Given the description of an element on the screen output the (x, y) to click on. 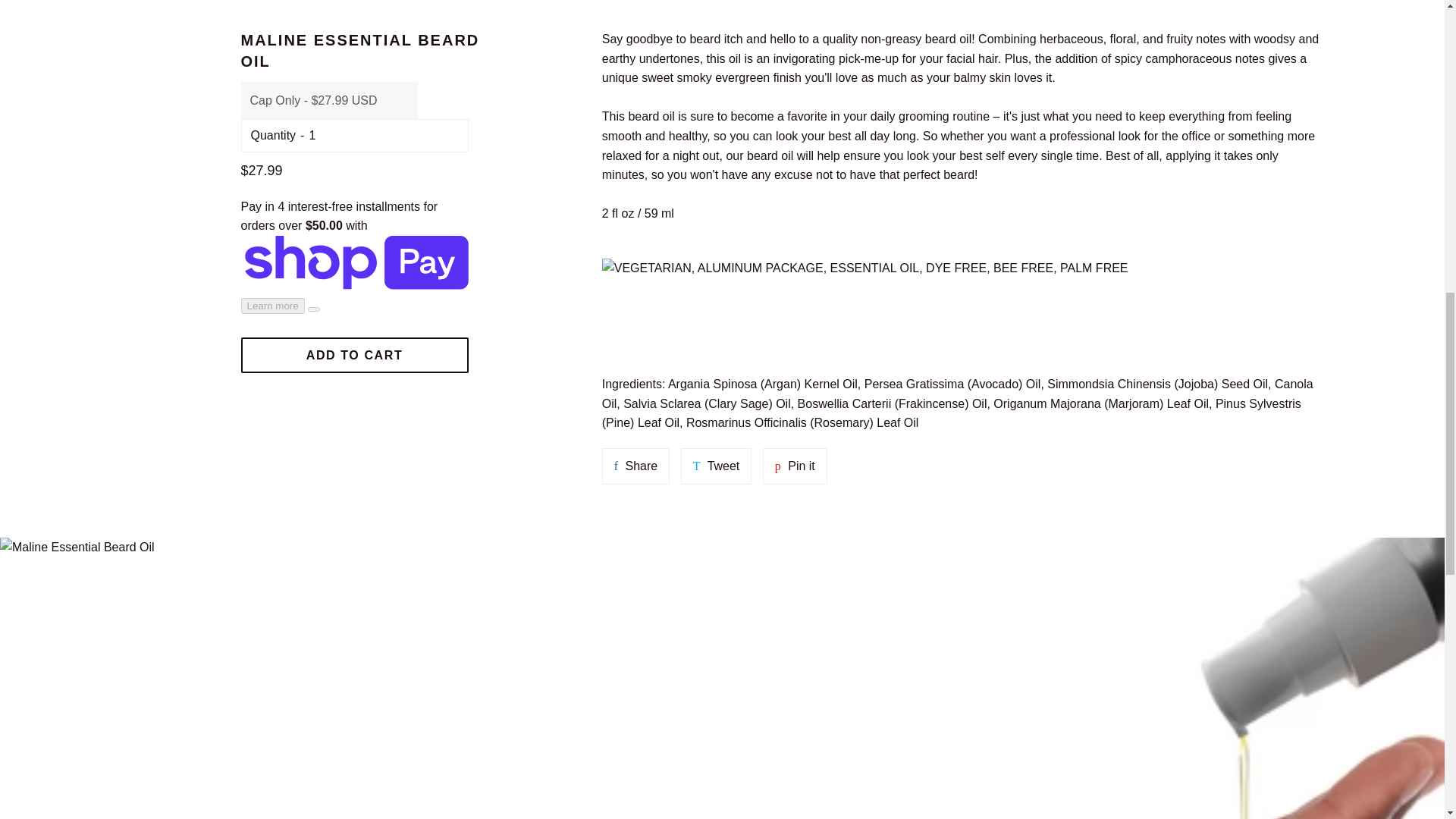
Pin on Pinterest (794, 465)
ADD TO CART (794, 465)
Tweet on Twitter (354, 355)
Share on Facebook (716, 465)
1 (716, 465)
